Given the description of an element on the screen output the (x, y) to click on. 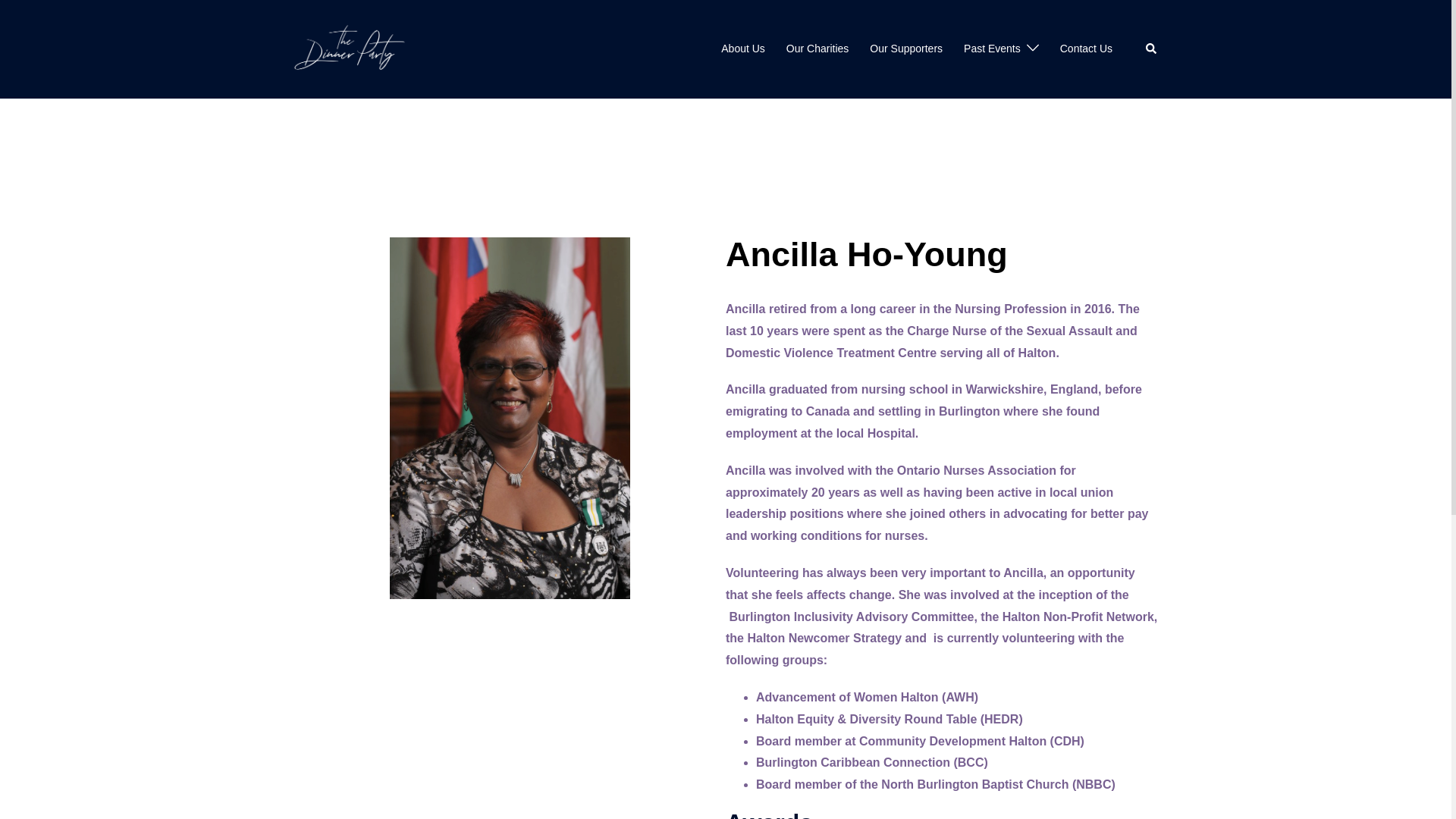
About Us (742, 49)
Past Events (991, 49)
Contact Us (1085, 49)
Our Supporters (905, 49)
Our Charities (817, 49)
TheDinnerParty (350, 47)
